Given the description of an element on the screen output the (x, y) to click on. 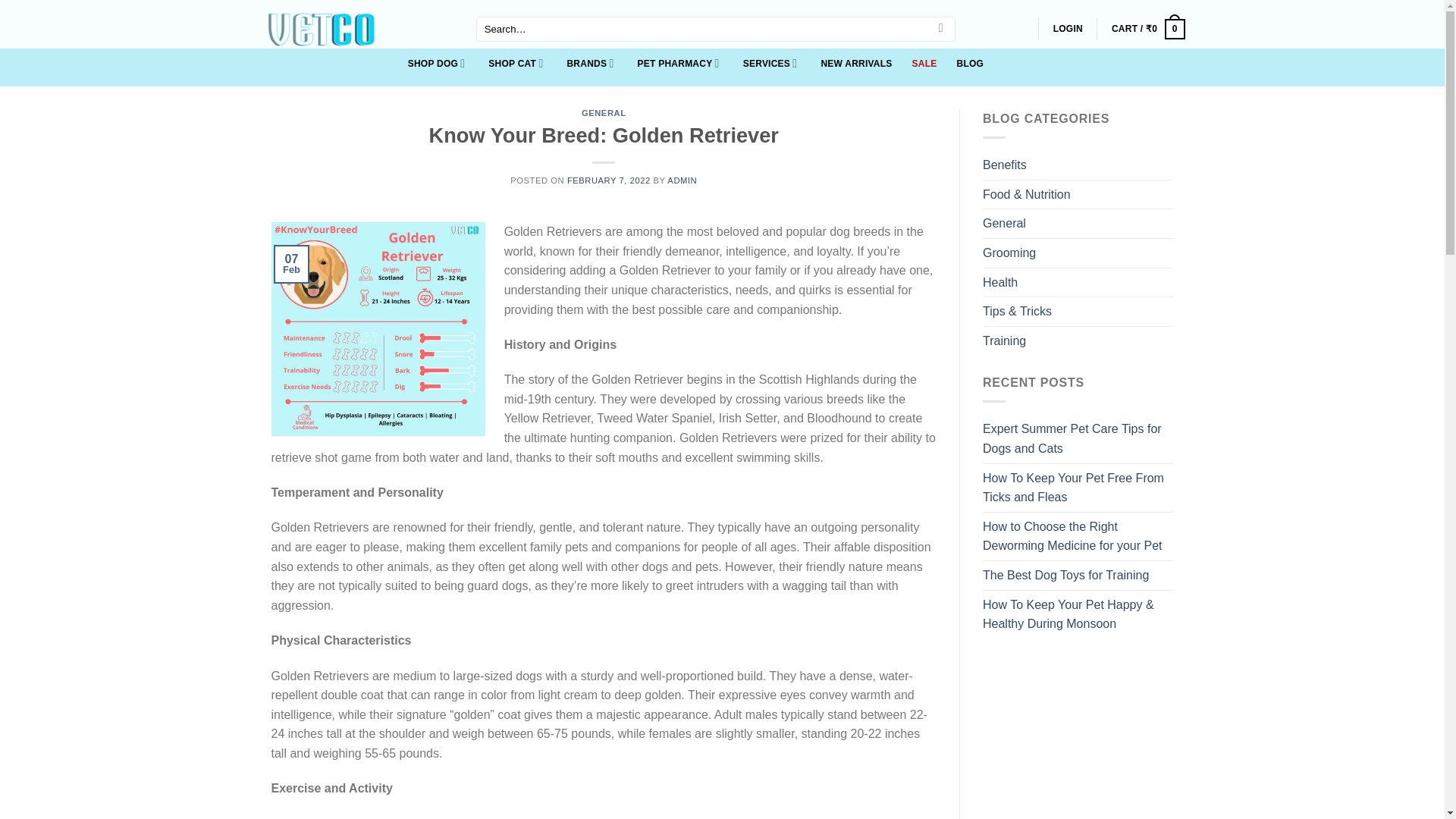
SHOP DOG (437, 67)
Search (940, 29)
Cart (1148, 29)
LOGIN (1067, 28)
